Given the description of an element on the screen output the (x, y) to click on. 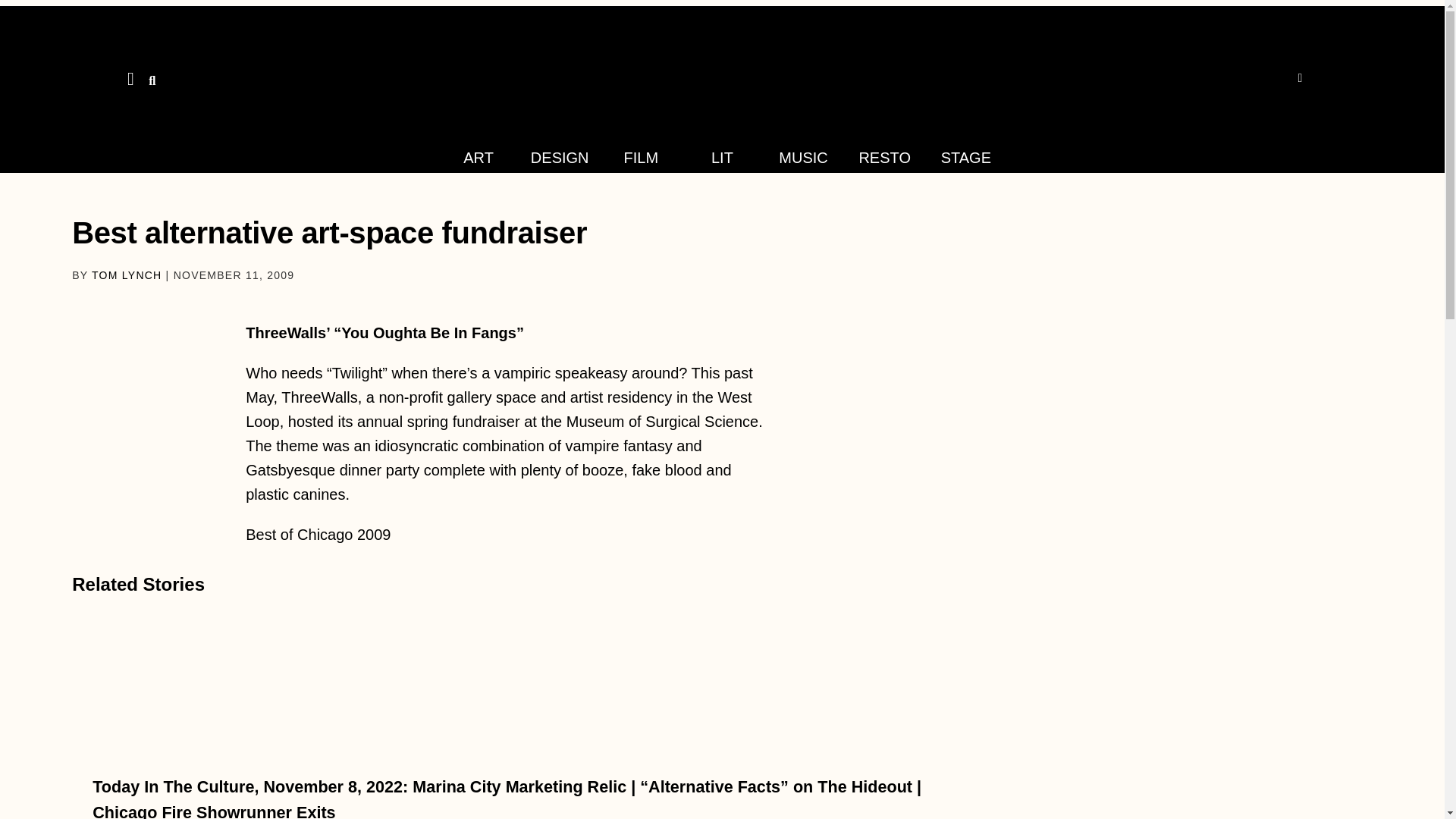
LIT (722, 157)
FILM (641, 157)
NEWCITY (48, 20)
DESIGN (560, 157)
ART (478, 157)
STAGE (965, 157)
RESTO (885, 157)
Newcity (721, 74)
MUSIC (802, 157)
